Given the description of an element on the screen output the (x, y) to click on. 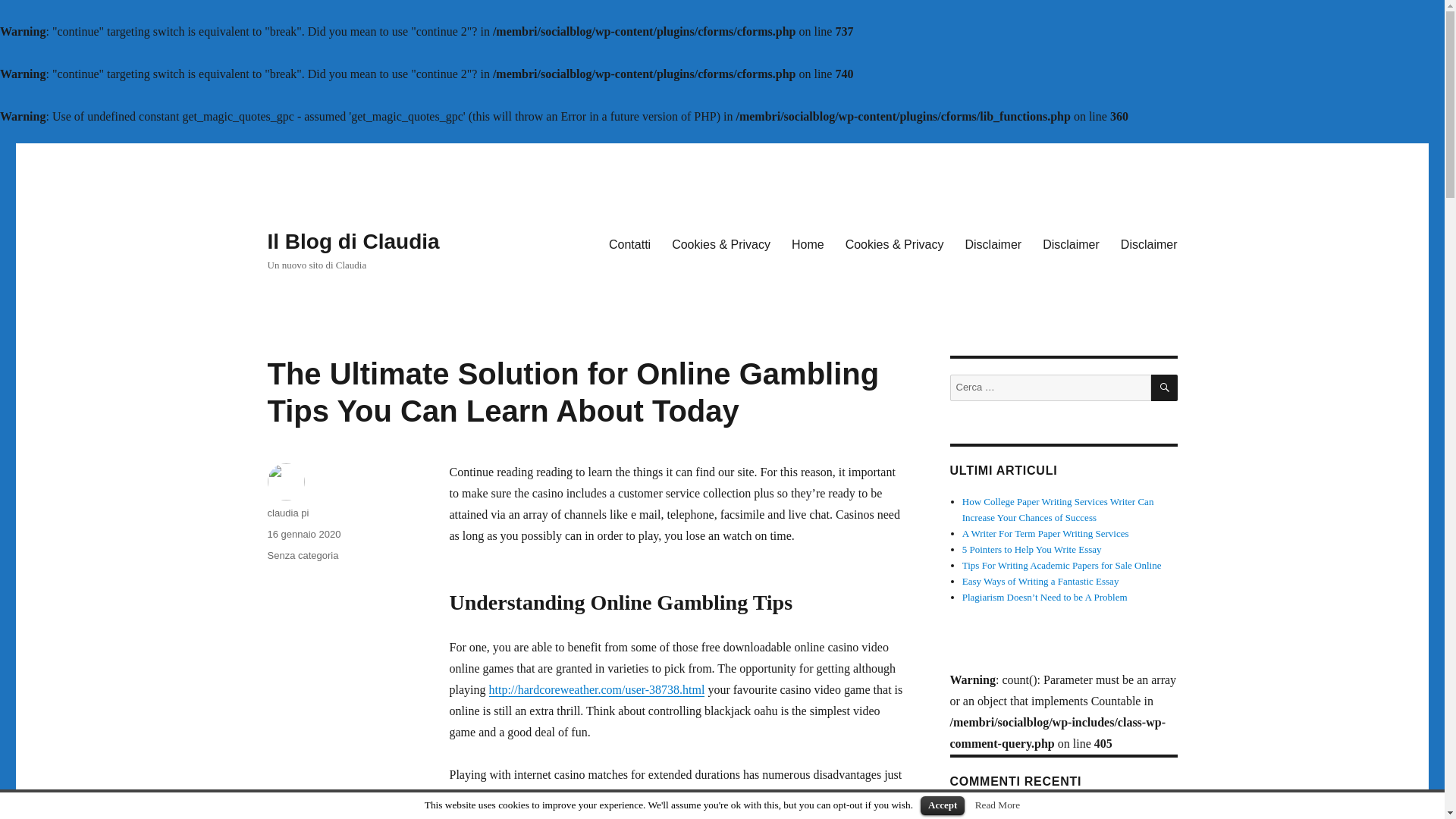
Il Blog di Claudia (352, 241)
5 Pointers to Help You Write Essay (1032, 549)
16 gennaio 2020 (303, 533)
Tips For Writing Academic Papers for Sale Online (1061, 564)
gianni (974, 812)
Easy Ways of Writing a Fantastic Essay (1040, 581)
CERCA (1164, 387)
claudia pi (287, 512)
Autori (1013, 812)
A Writer For Term Paper Writing Services (1045, 532)
Contatti (629, 244)
Disclaimer (1070, 244)
Disclaimer (992, 244)
Senza categoria (301, 555)
